Given the description of an element on the screen output the (x, y) to click on. 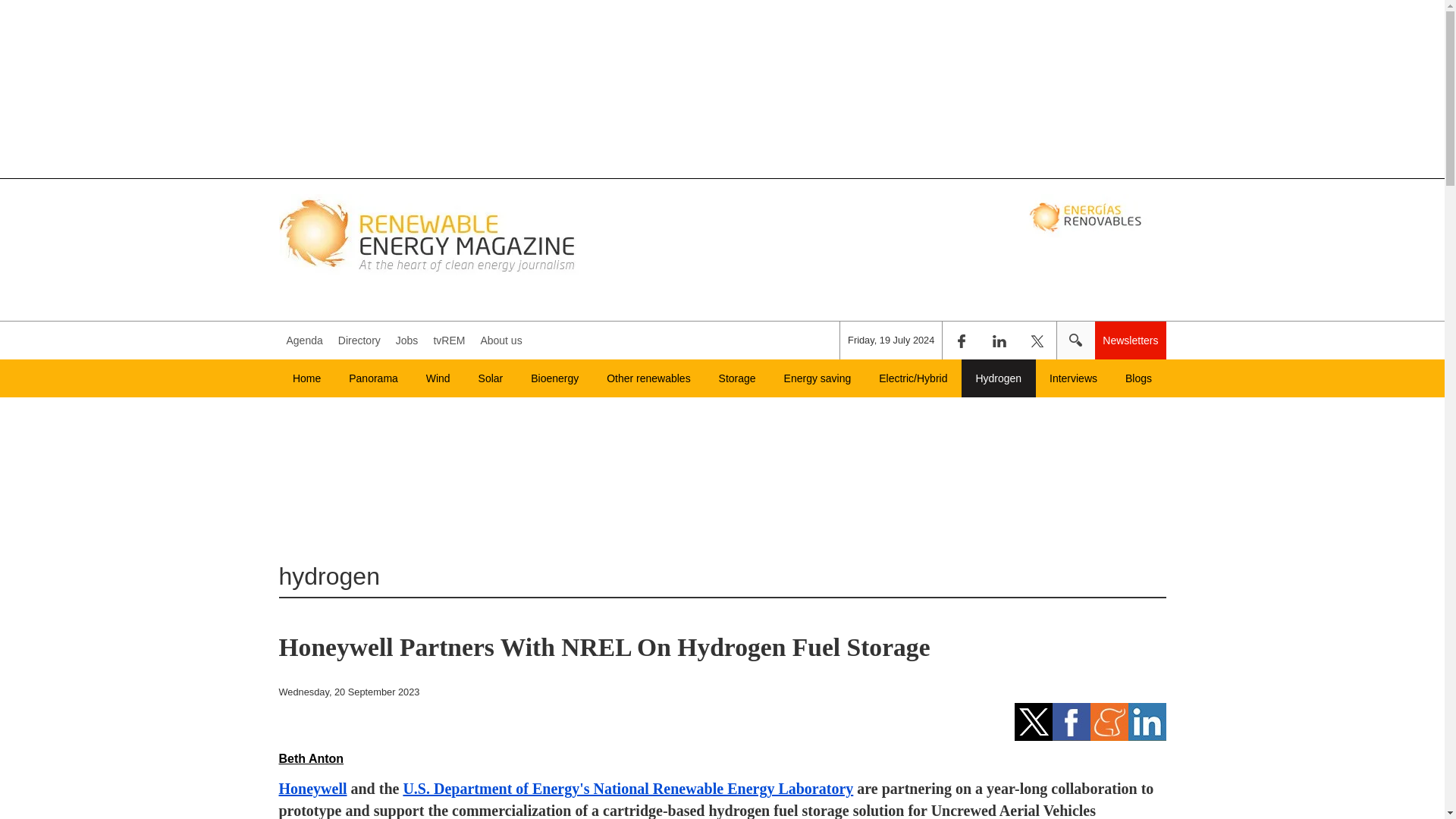
Storage (737, 378)
Go to Videos (448, 340)
Go to Newsletters (1130, 340)
Hydrogen (997, 378)
Newsletters (1130, 340)
Go to Solar (490, 378)
Bioenergy (554, 378)
Panorama (373, 378)
Go to Jobs (407, 340)
Go to Agenda (304, 340)
Blogs (1139, 378)
Ir a Inicio (429, 234)
Agenda (304, 340)
Solar (490, 378)
Facebook (960, 340)
